Given the description of an element on the screen output the (x, y) to click on. 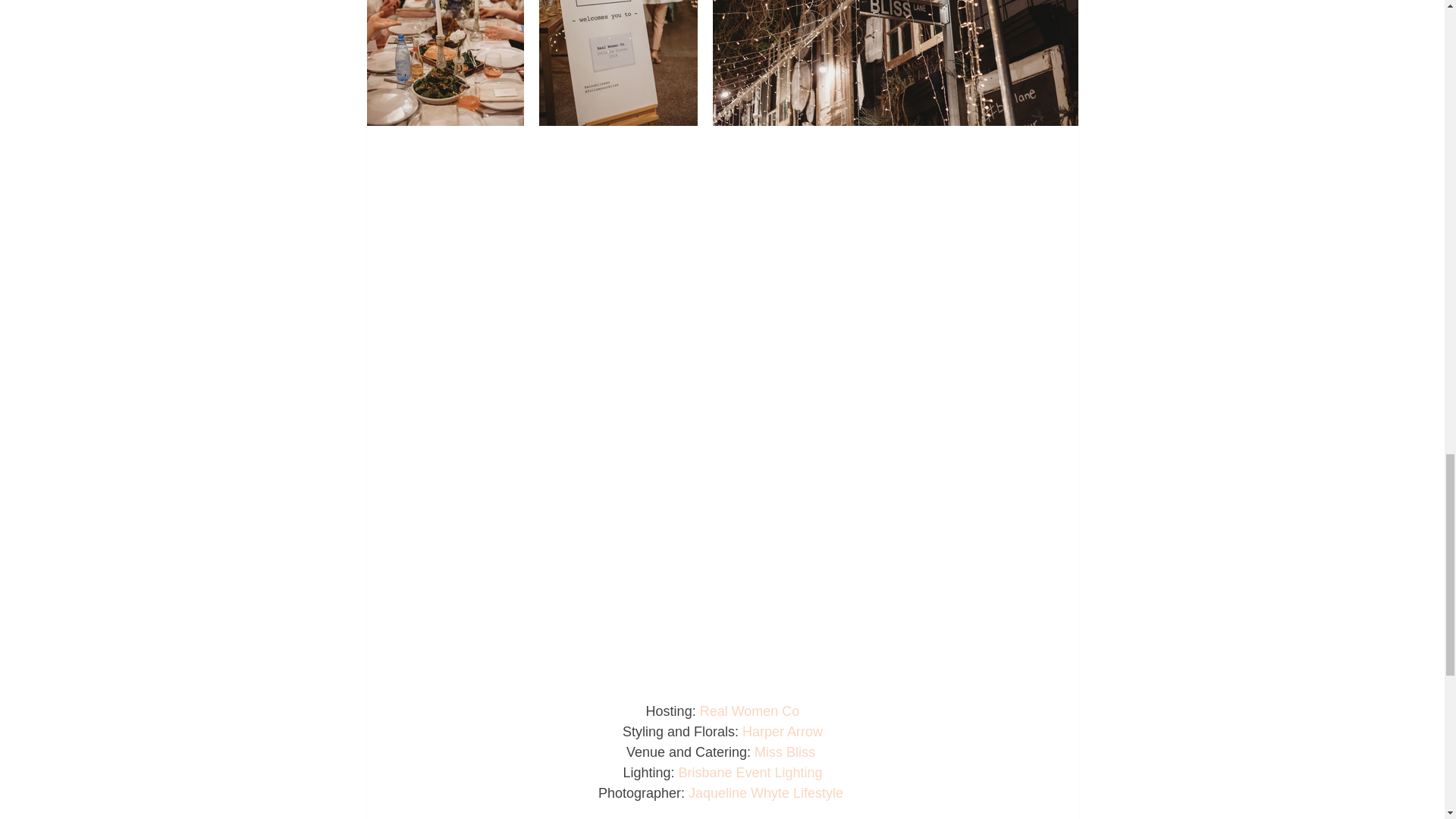
Miss Bliss  (786, 752)
Brisbane Event Lighting (750, 772)
Jaqueline Whyte Lifestyle  (766, 792)
Harper Arrow (782, 731)
Real Women Co (748, 711)
